Given the description of an element on the screen output the (x, y) to click on. 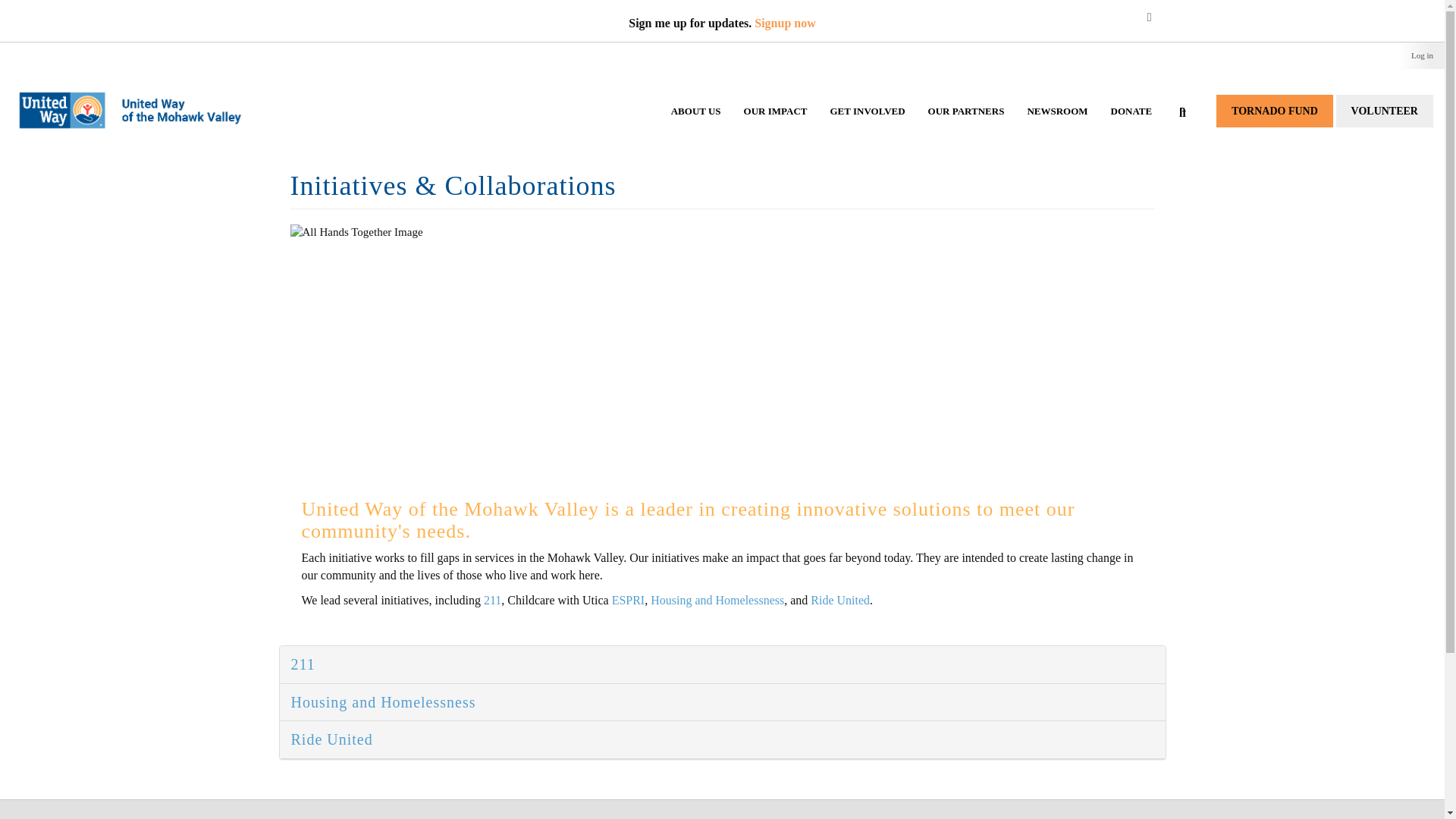
VOLUNTEER (1384, 111)
ABOUT US (695, 126)
OUR IMPACT (775, 126)
GET INVOLVED (867, 126)
Signup now (784, 22)
TORNADO FUND (1274, 111)
Home (138, 94)
